Given the description of an element on the screen output the (x, y) to click on. 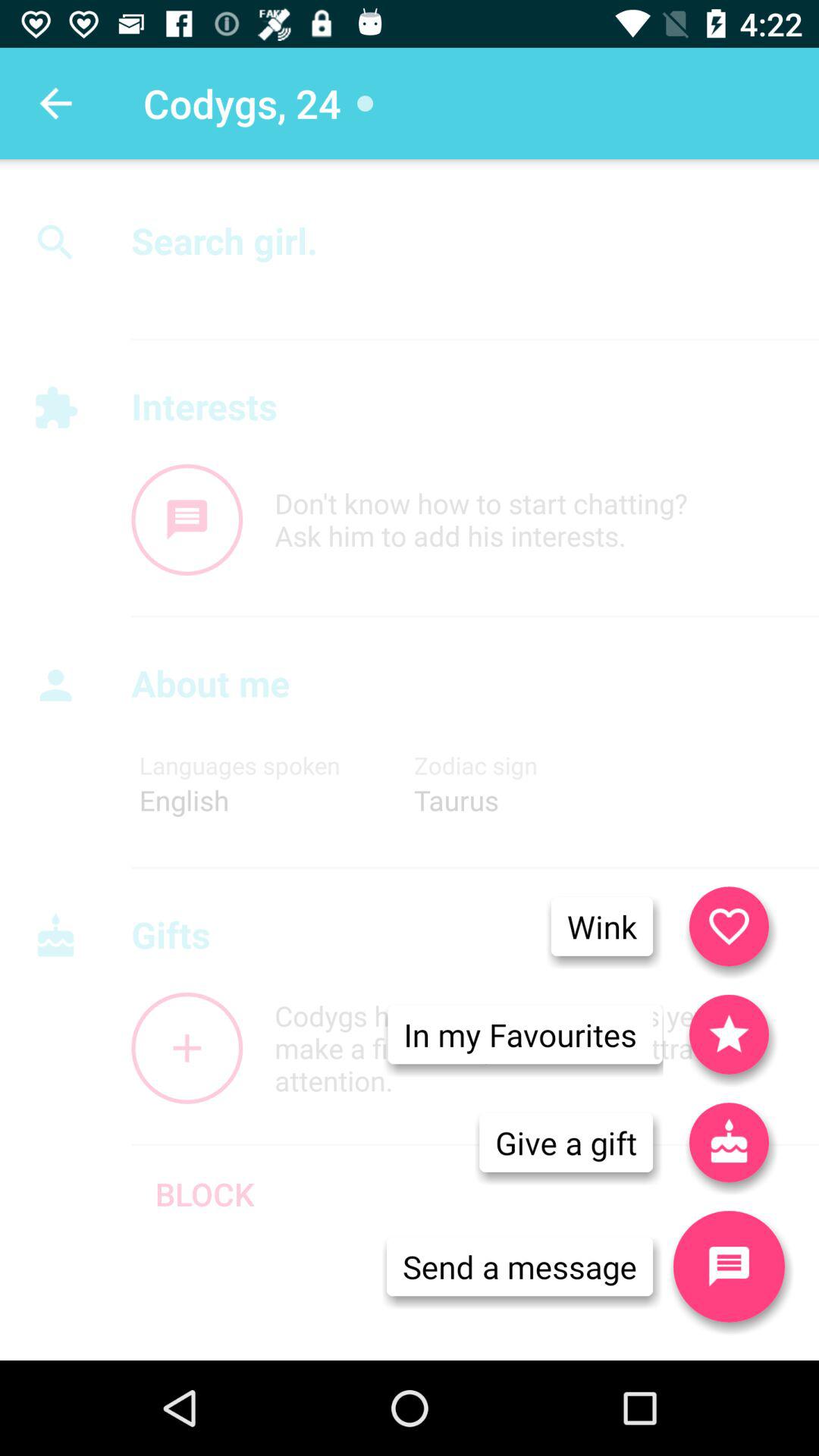
click the icon to the right of block (566, 1142)
